Given the description of an element on the screen output the (x, y) to click on. 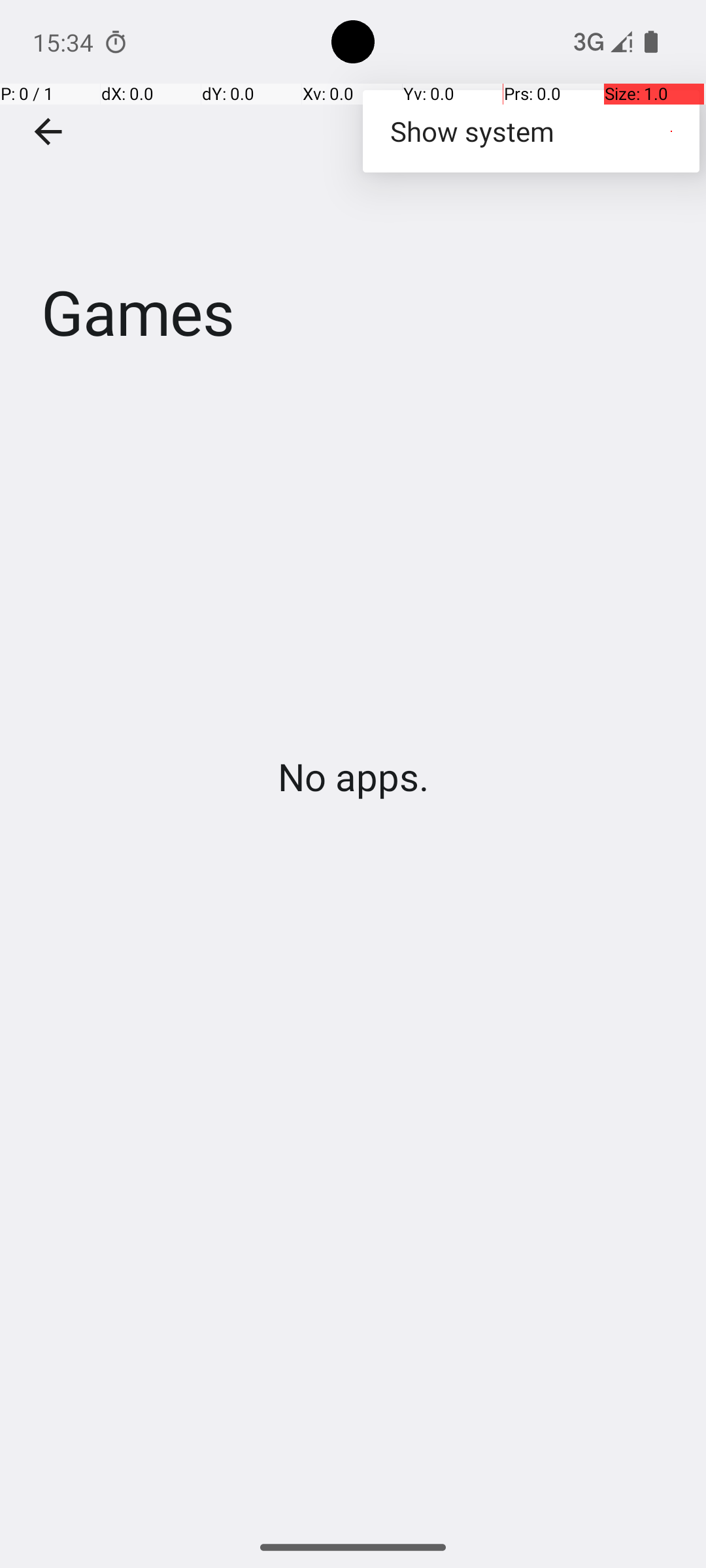
Show system Element type: android.widget.TextView (531, 130)
